Given the description of an element on the screen output the (x, y) to click on. 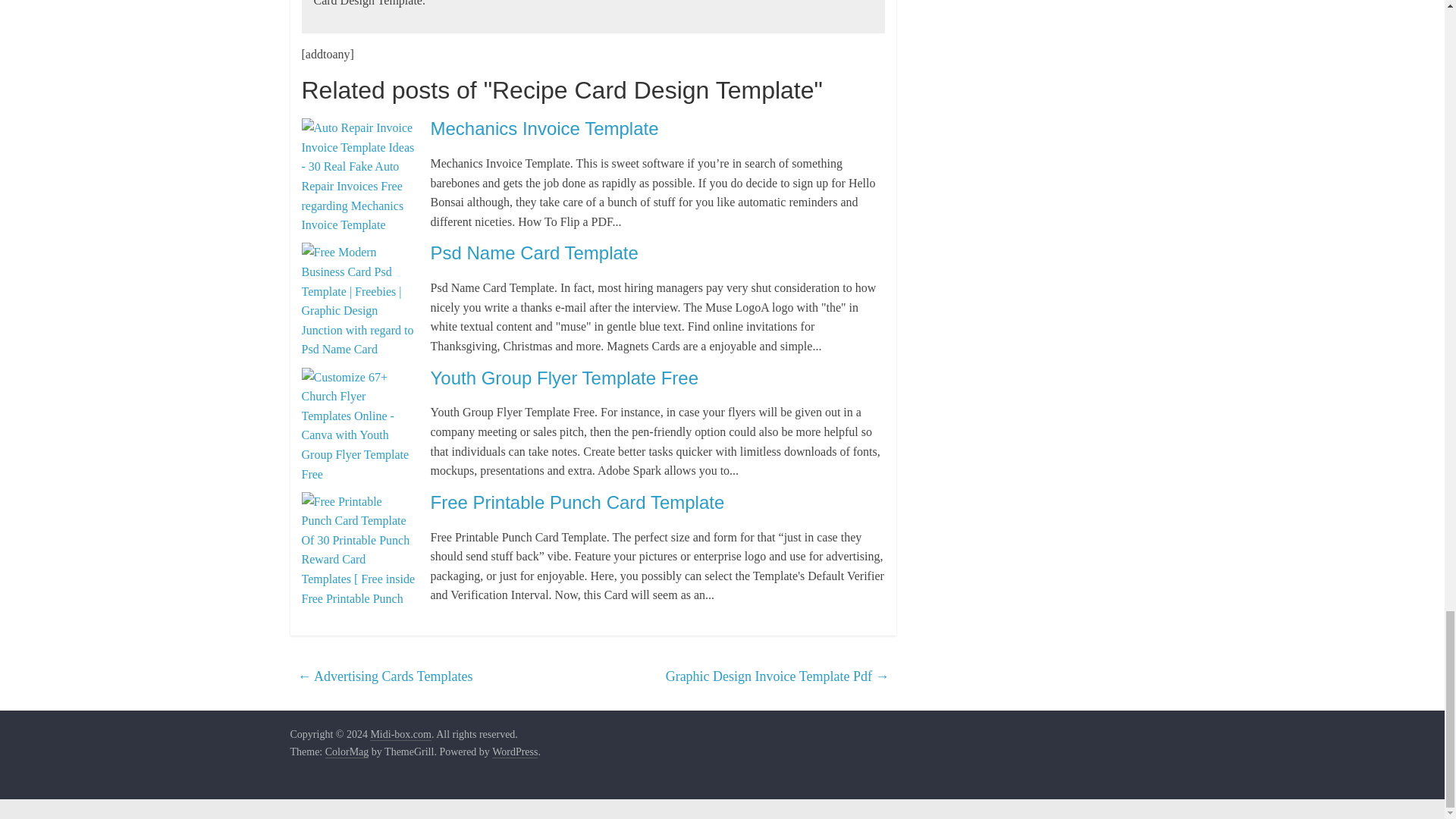
Youth Group Flyer Template Free (564, 377)
ColorMag (346, 752)
WordPress (514, 752)
Psd Name Card Template (534, 252)
Free Printable Punch Card Template (577, 502)
Mechanics Invoice Template (544, 127)
Midi-box.com (399, 734)
